Given the description of an element on the screen output the (x, y) to click on. 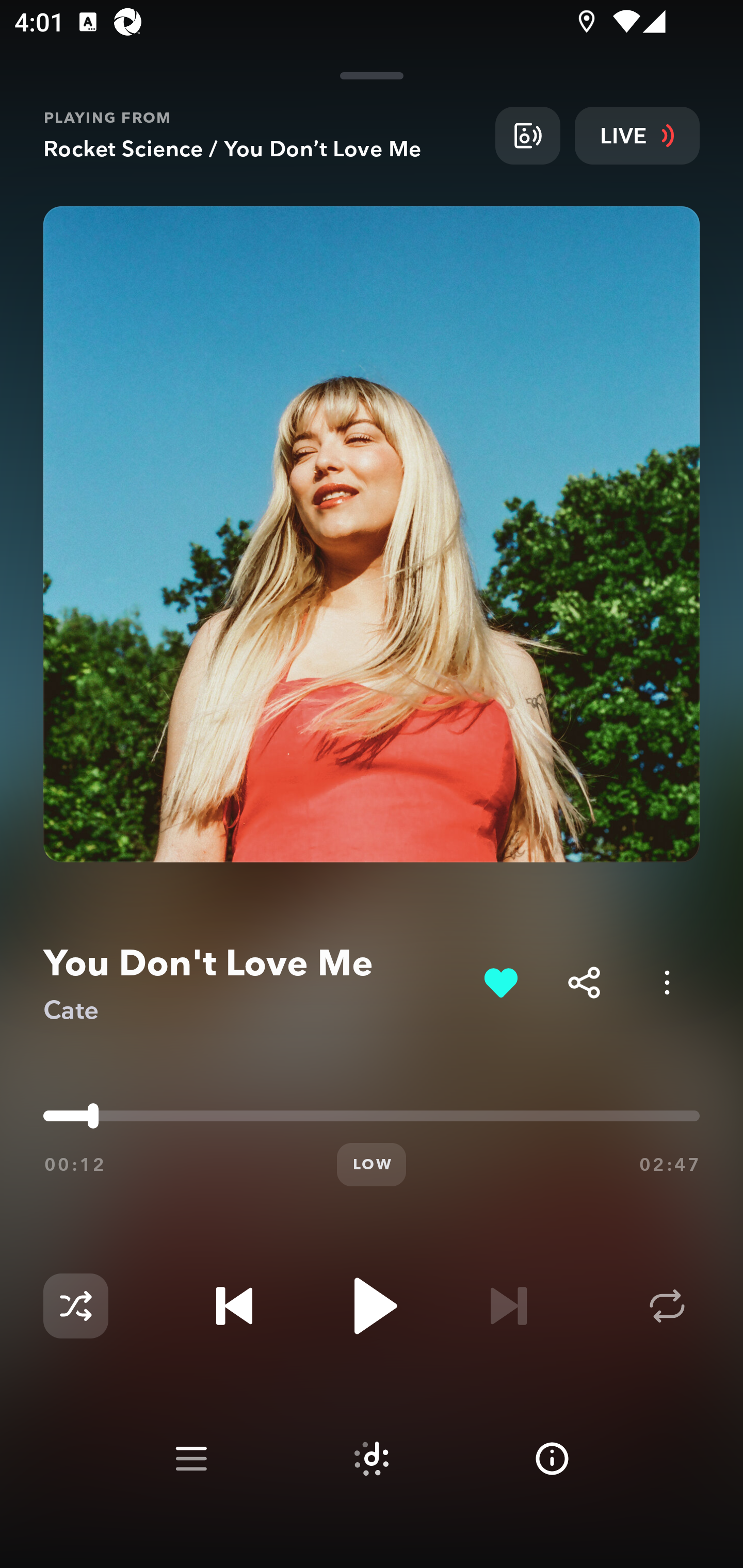
Updates (612, 93)
Broadcast (527, 135)
LIVE (637, 135)
PLAYING FROM Rocket Science / You Don’t Love Me (261, 135)
You Don't Love Me Cate (255, 983)
Remove from My Collection (500, 982)
Share (583, 982)
Options (666, 982)
LOW (371, 1164)
Play (371, 1306)
Previous (234, 1306)
Next (508, 1306)
Shuffle enabled (75, 1306)
Repeat Off (666, 1306)
Play queue (191, 1458)
Suggested tracks (371, 1458)
Info (551, 1458)
